Given the description of an element on the screen output the (x, y) to click on. 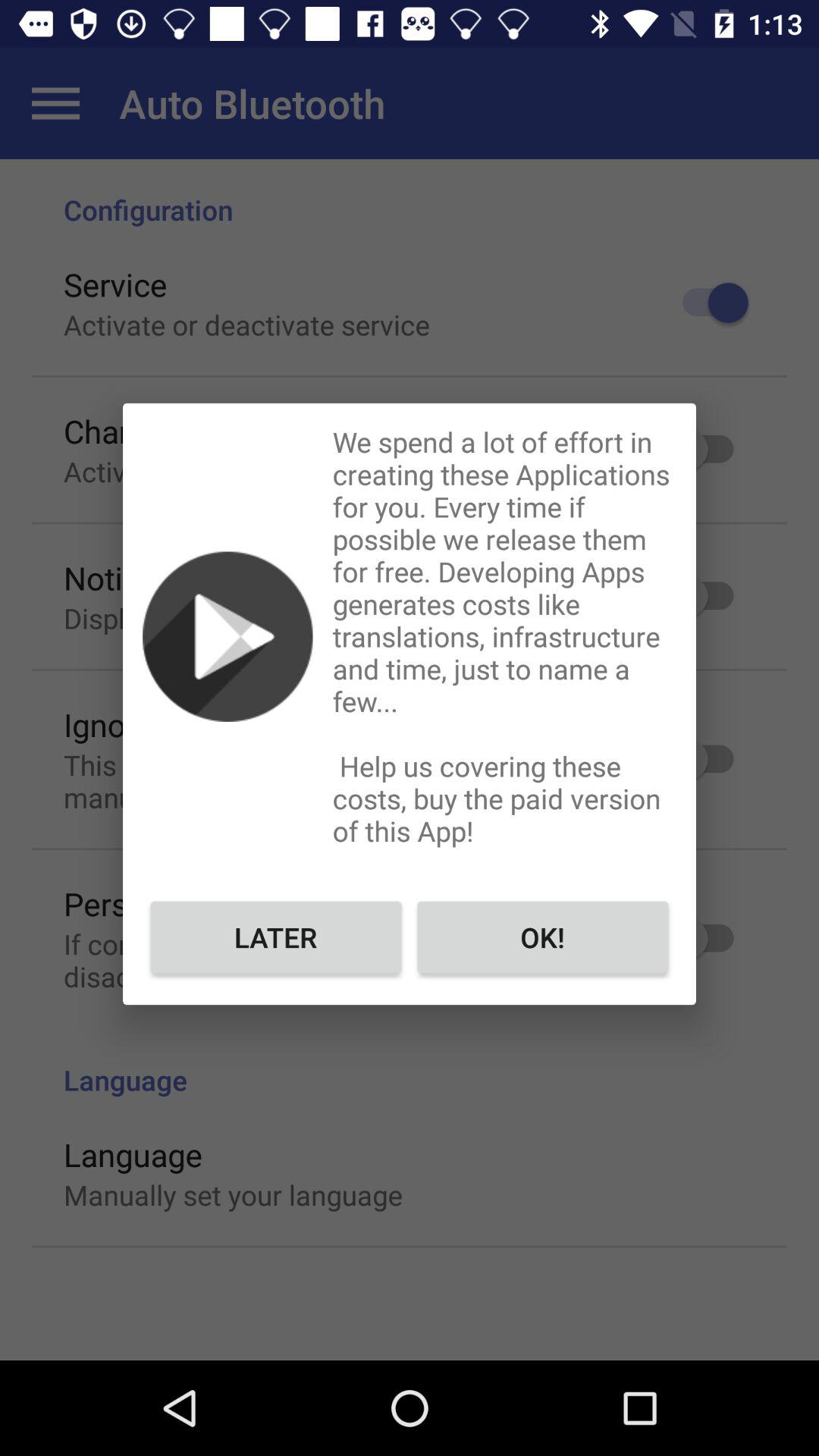
flip to the ok! (542, 937)
